Given the description of an element on the screen output the (x, y) to click on. 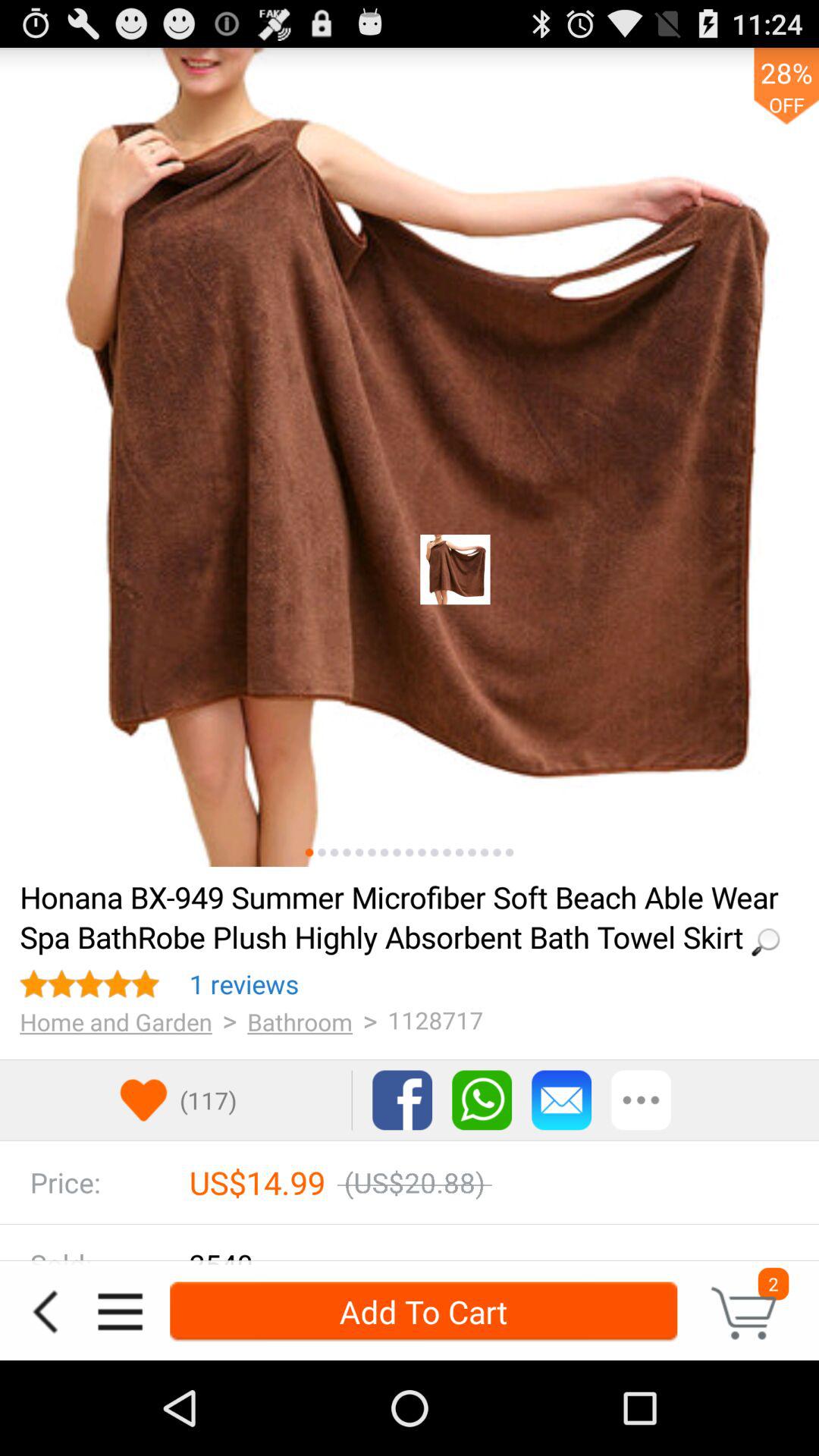
select image option (459, 852)
